Given the description of an element on the screen output the (x, y) to click on. 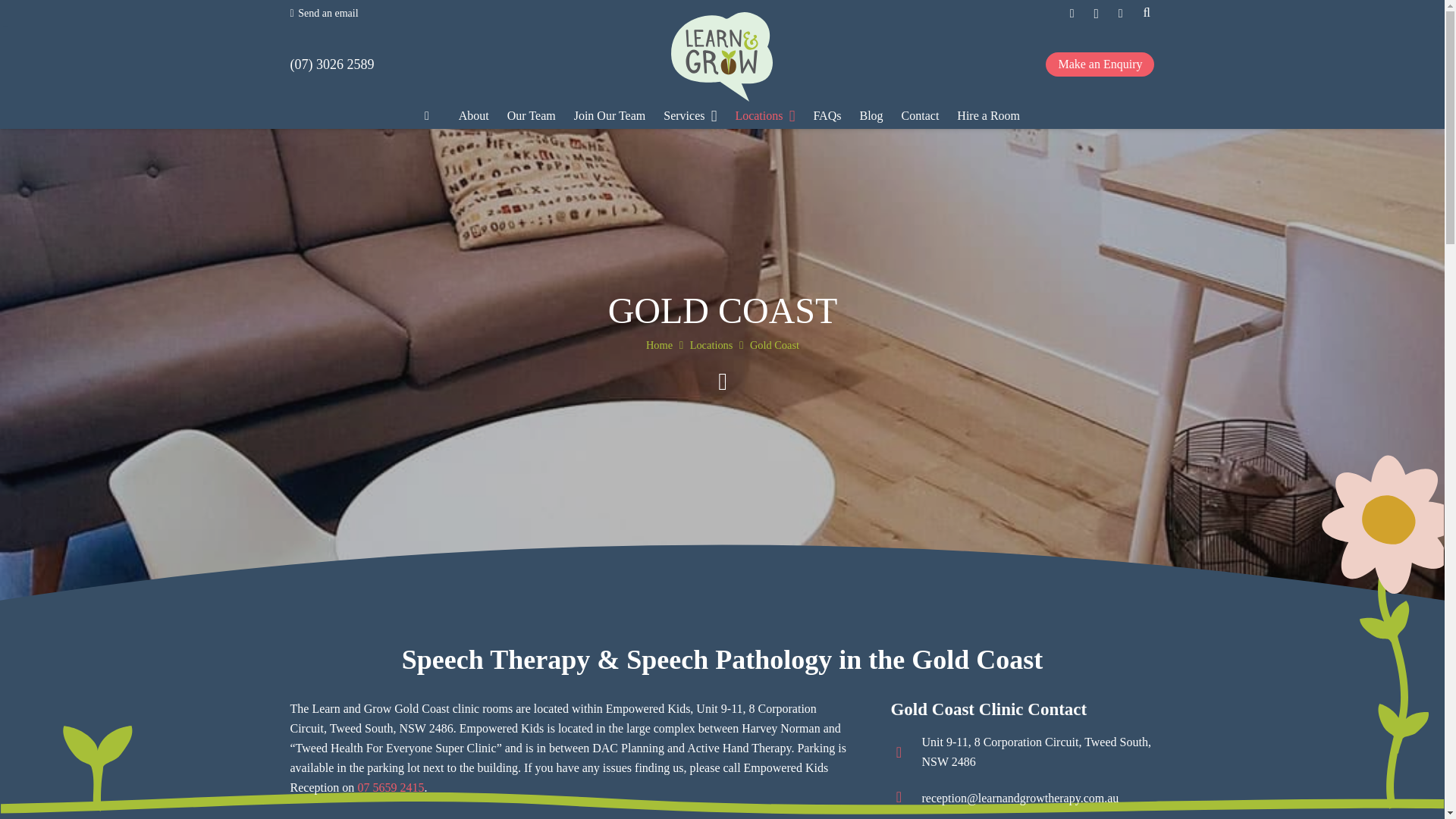
FAQs (826, 116)
Home (658, 345)
Blog (870, 116)
Services (689, 116)
Locations (710, 345)
Facebook (1071, 13)
Hire a Room (988, 116)
About (473, 116)
Instagram (1096, 13)
Email (1120, 13)
